Given the description of an element on the screen output the (x, y) to click on. 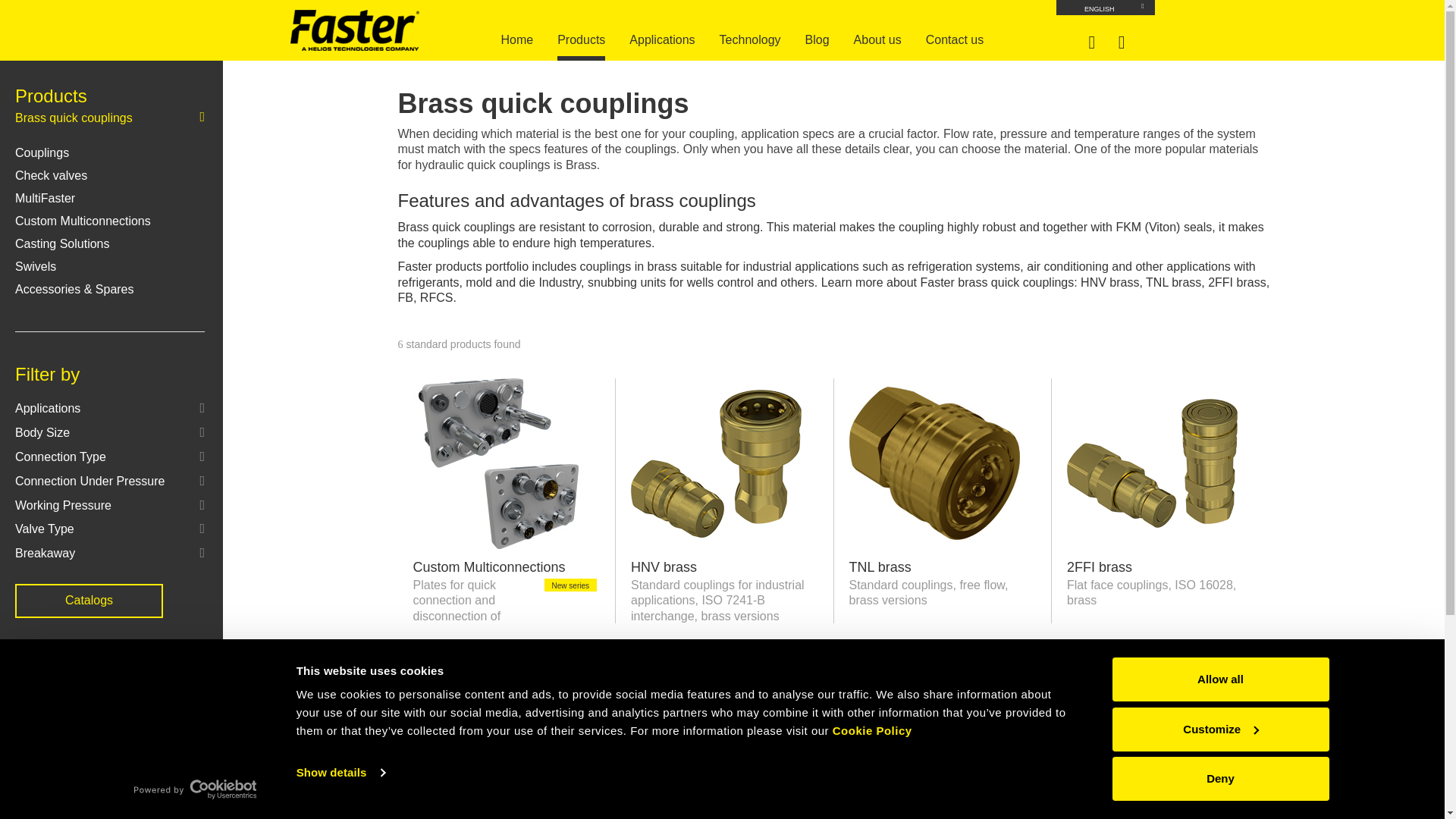
Cookie Policy (872, 730)
Show details (340, 772)
English (1104, 7)
Cookie Policy (872, 730)
